Given the description of an element on the screen output the (x, y) to click on. 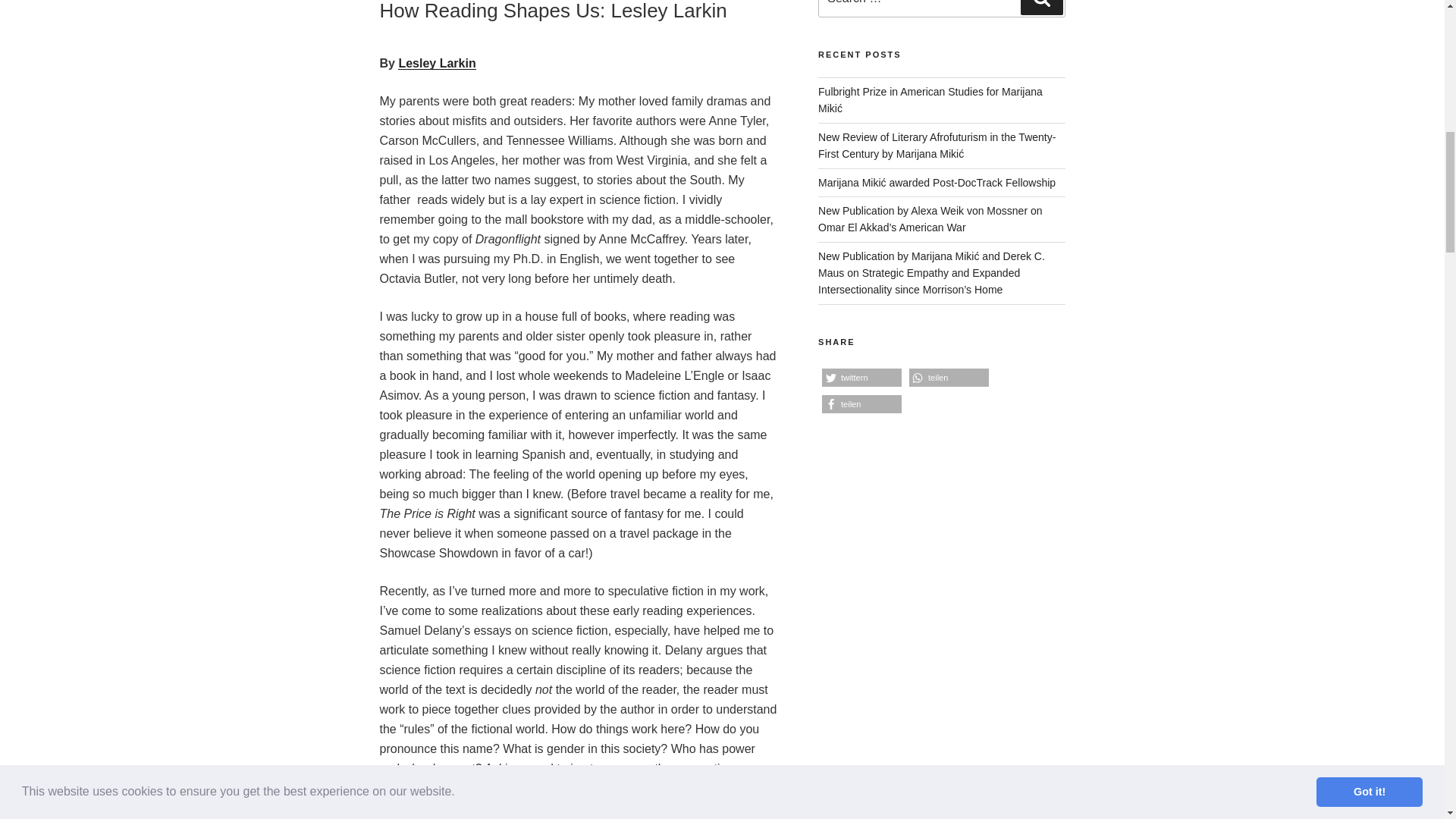
Bei Facebook teilen (861, 404)
Bei Whatsapp teilen (948, 377)
Bei Twitter teilen (861, 377)
Lesley Larkin (436, 62)
